Given the description of an element on the screen output the (x, y) to click on. 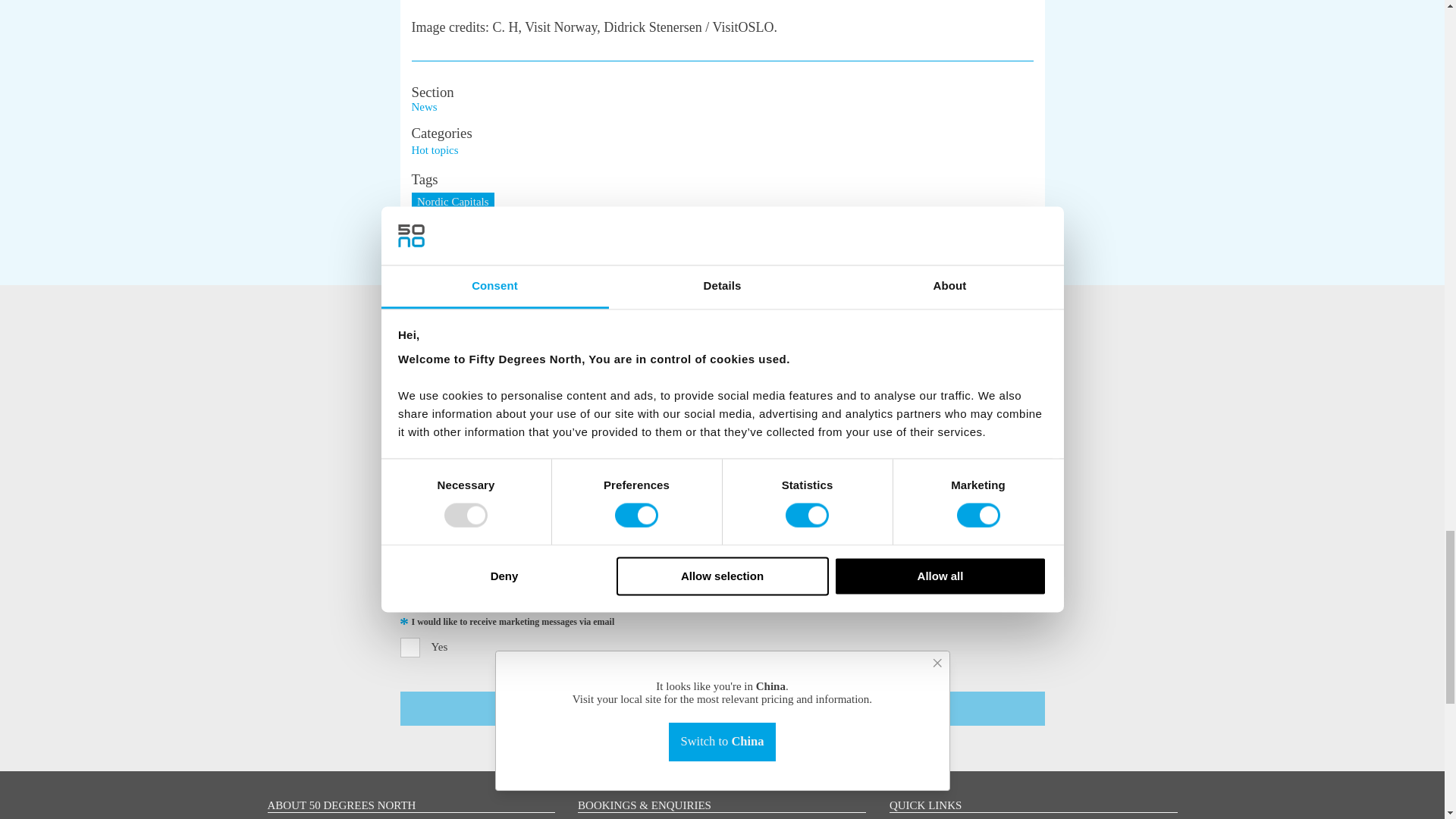
1 (410, 647)
00NVg000000RE0T (410, 563)
00NVg000000RE25 (410, 591)
